Given the description of an element on the screen output the (x, y) to click on. 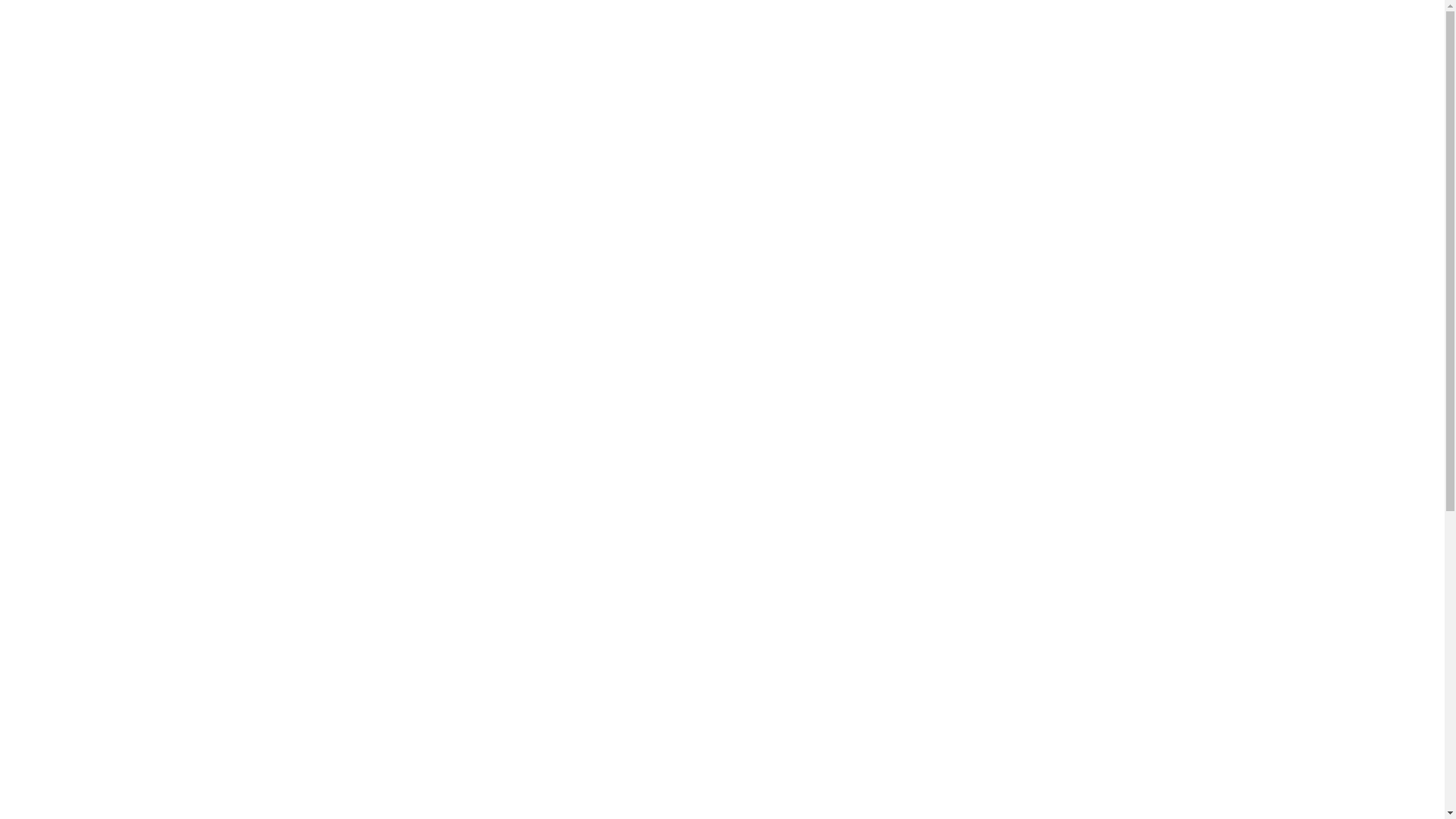
Over ons Element type: text (58, 485)
Welkom Element type: text (56, 714)
Cultuurhuis Element type: text (95, 403)
Cultuurhuis Element type: text (95, 65)
Mobiliteit Element type: text (90, 809)
Dorpszicht Element type: text (92, 417)
Documenten Element type: text (97, 283)
Over Hansbeke Element type: text (73, 256)
Dorpszicht Element type: text (92, 78)
Over Hansbeke Element type: text (73, 594)
Privacyverklaring Element type: text (109, 228)
Visie Element type: text (78, 160)
Mobiliteit Element type: text (90, 133)
Samenwerking VVDB Element type: text (121, 215)
Lokale Handel Element type: text (102, 444)
Documenten Element type: text (97, 621)
Contact Element type: text (55, 649)
Samenwerking Stad Element type: text (114, 539)
Trage Wegen Wandelingen Element type: text (131, 269)
Milieu en groen Element type: text (105, 119)
Milieu en groen Element type: text (105, 457)
Cultuurhuis Element type: text (95, 741)
Welkom Element type: text (56, 37)
Werkgroepen Element type: text (68, 51)
Agenda Element type: text (55, 242)
Onze Werking Element type: text (101, 188)
Welkom Element type: text (56, 376)
Privacyverklaring Element type: text (109, 567)
Leefbaarheid Element type: text (98, 430)
Verenigingen Element type: text (98, 635)
Agenda Element type: text (55, 580)
Visie Element type: text (78, 498)
Contact Element type: text (55, 310)
Leefbaarheid Element type: text (98, 92)
Milieu en groen Element type: text (105, 796)
Onze Werking Element type: text (101, 526)
Verenigingen Element type: text (98, 297)
Dorpszicht Element type: text (92, 755)
Werkgroepen Element type: text (68, 389)
Trage Wegen Wandelingen Element type: text (131, 608)
Kerngroep Element type: text (92, 174)
Over ons Element type: text (58, 147)
Leefbaarheid Element type: text (98, 768)
Werkgroepen Element type: text (68, 727)
Lokale Handel Element type: text (102, 782)
Lokale Handel Element type: text (102, 106)
Samenwerking VVDB Element type: text (121, 553)
Mobiliteit Element type: text (90, 471)
Kerngroep Element type: text (92, 512)
Samenwerking Stad Element type: text (114, 201)
